Given the description of an element on the screen output the (x, y) to click on. 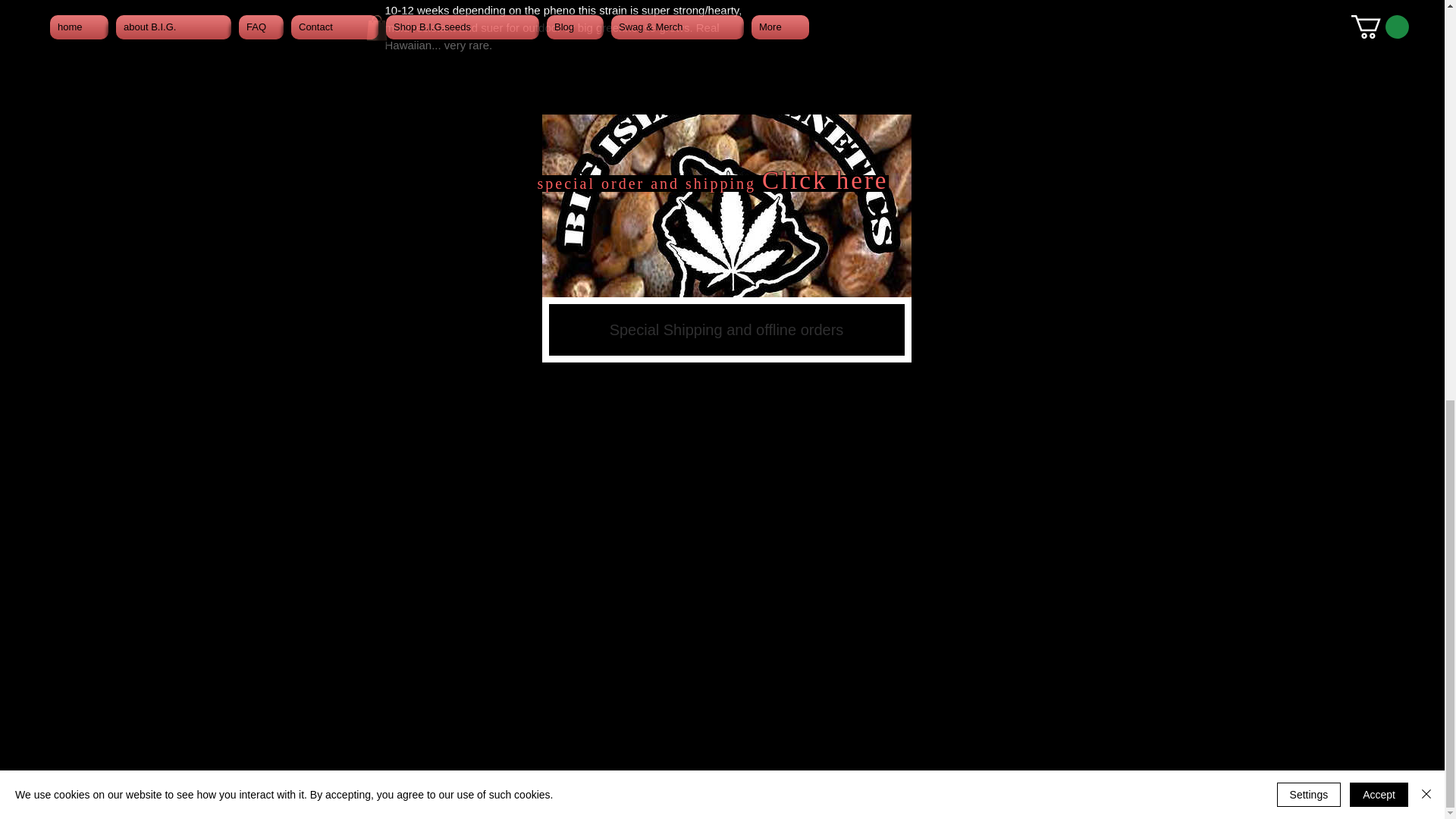
Settings (1308, 13)
Special Shipping and offline orders (726, 238)
Accept (1378, 13)
